Given the description of an element on the screen output the (x, y) to click on. 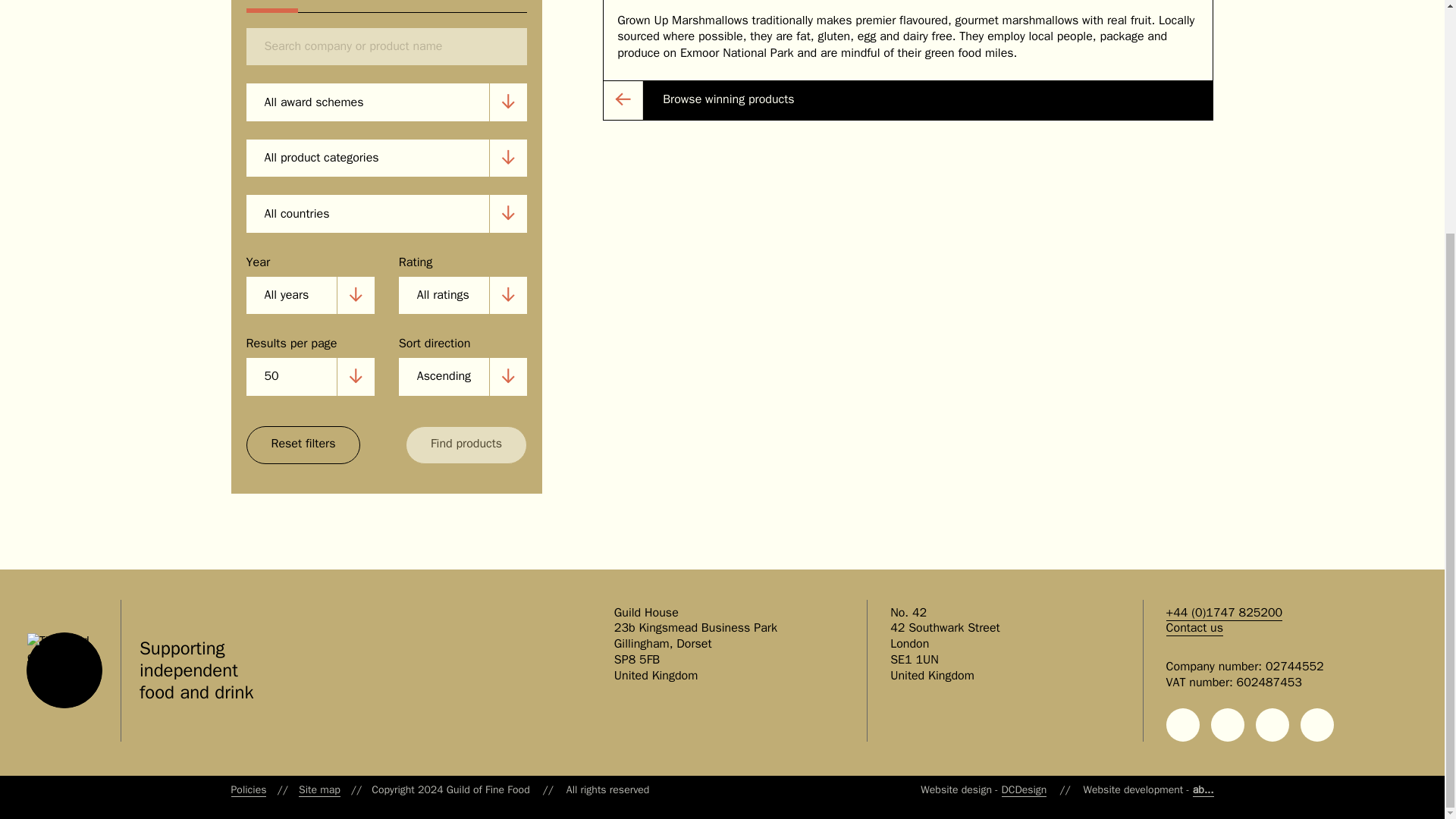
Policies (248, 789)
Site map (319, 789)
